Given the description of an element on the screen output the (x, y) to click on. 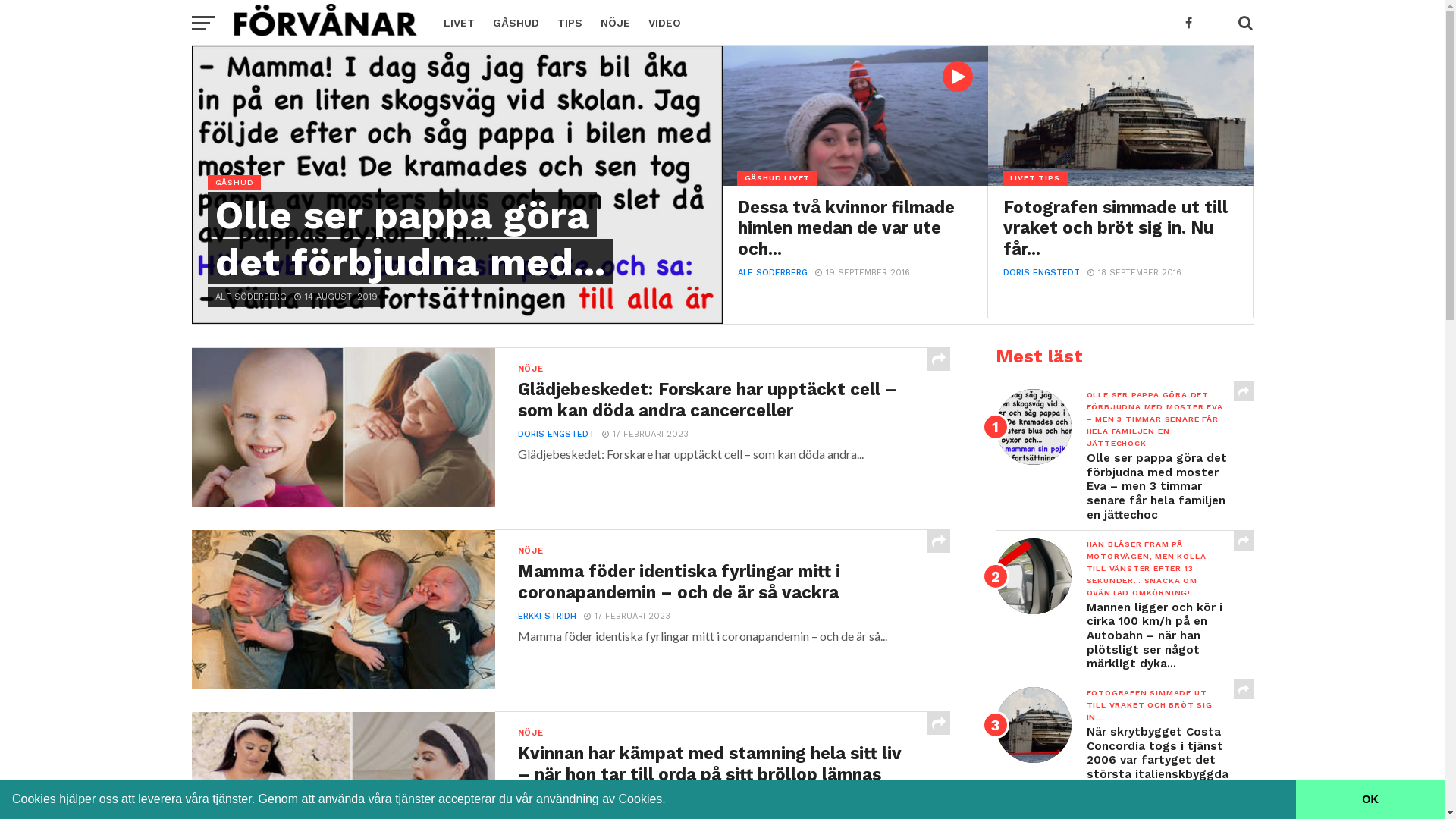
DORIS ENGSTEDT Element type: text (1040, 272)
VIDEO Element type: text (663, 22)
ERKKI STRIDH Element type: text (546, 616)
DORIS ENGSTEDT Element type: text (555, 434)
LIVET Element type: text (458, 22)
TIPS Element type: text (568, 22)
